Given the description of an element on the screen output the (x, y) to click on. 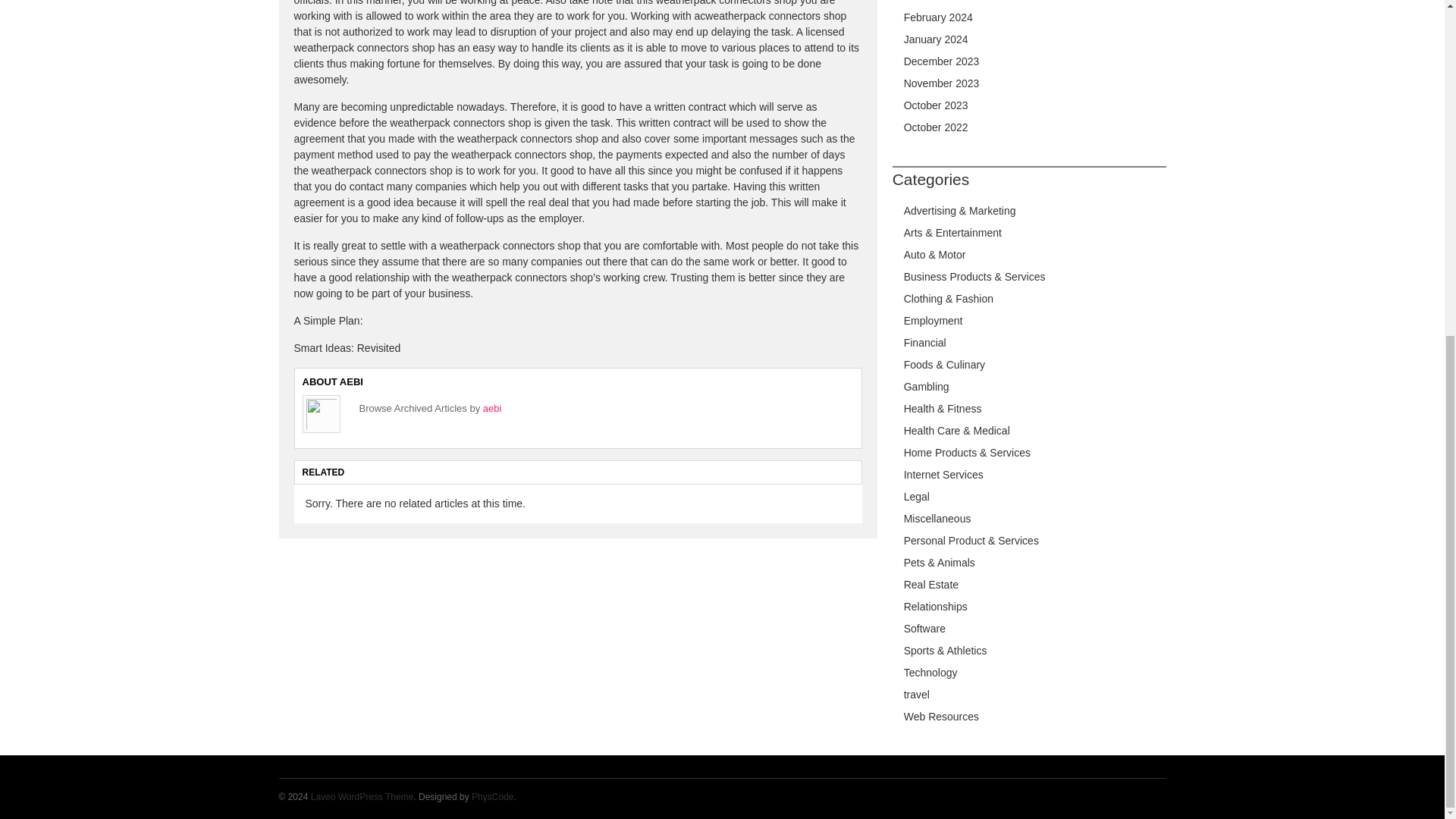
December 2023 (941, 61)
February 2024 (938, 17)
Gambling (926, 386)
Financial (925, 342)
Employment (933, 320)
Smart Ideas: Revisited (347, 347)
A Simple Plan: (328, 320)
October 2022 (936, 127)
aebi (492, 408)
Legal (917, 496)
